Given the description of an element on the screen output the (x, y) to click on. 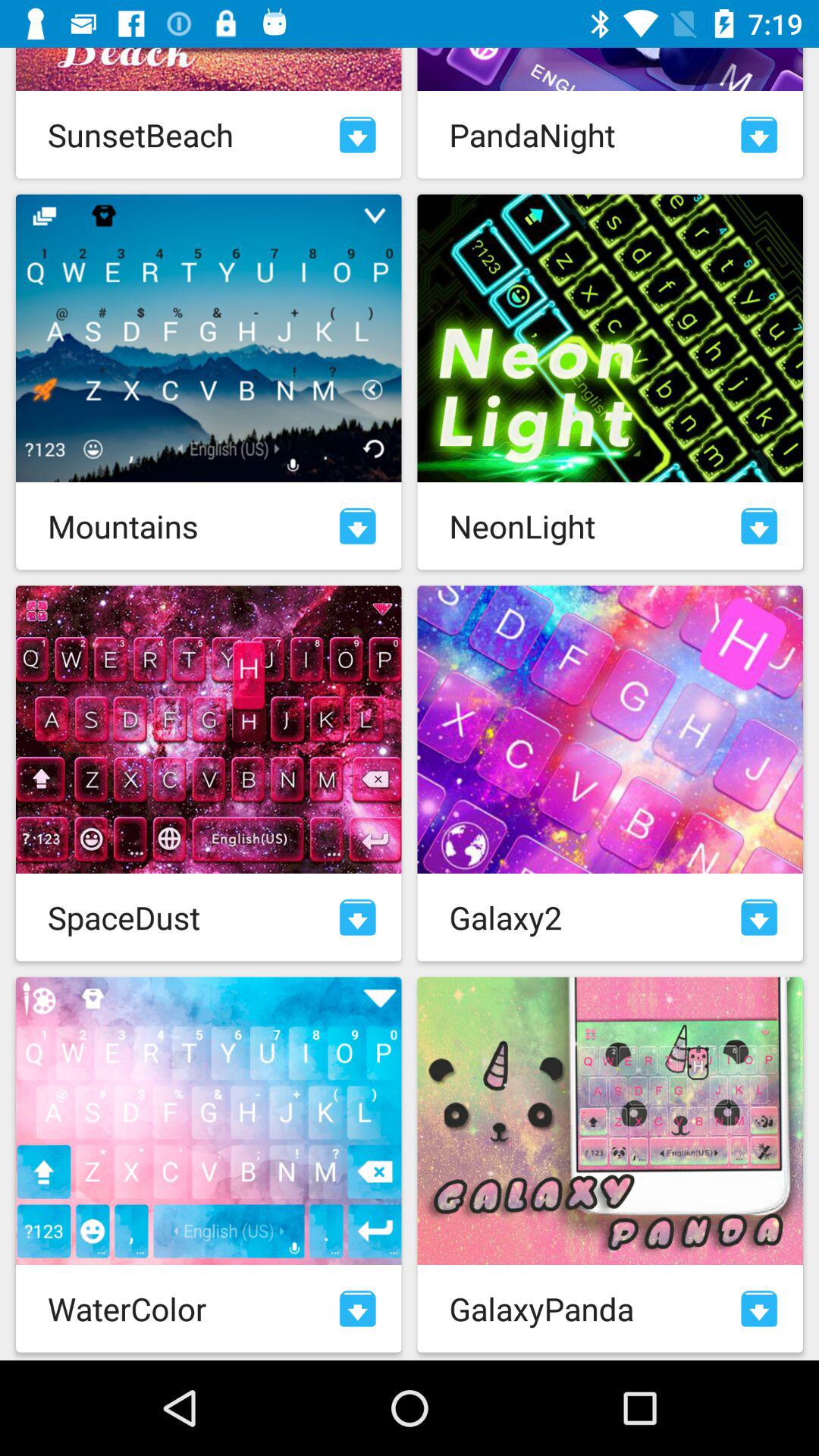
download selection (759, 134)
